Given the description of an element on the screen output the (x, y) to click on. 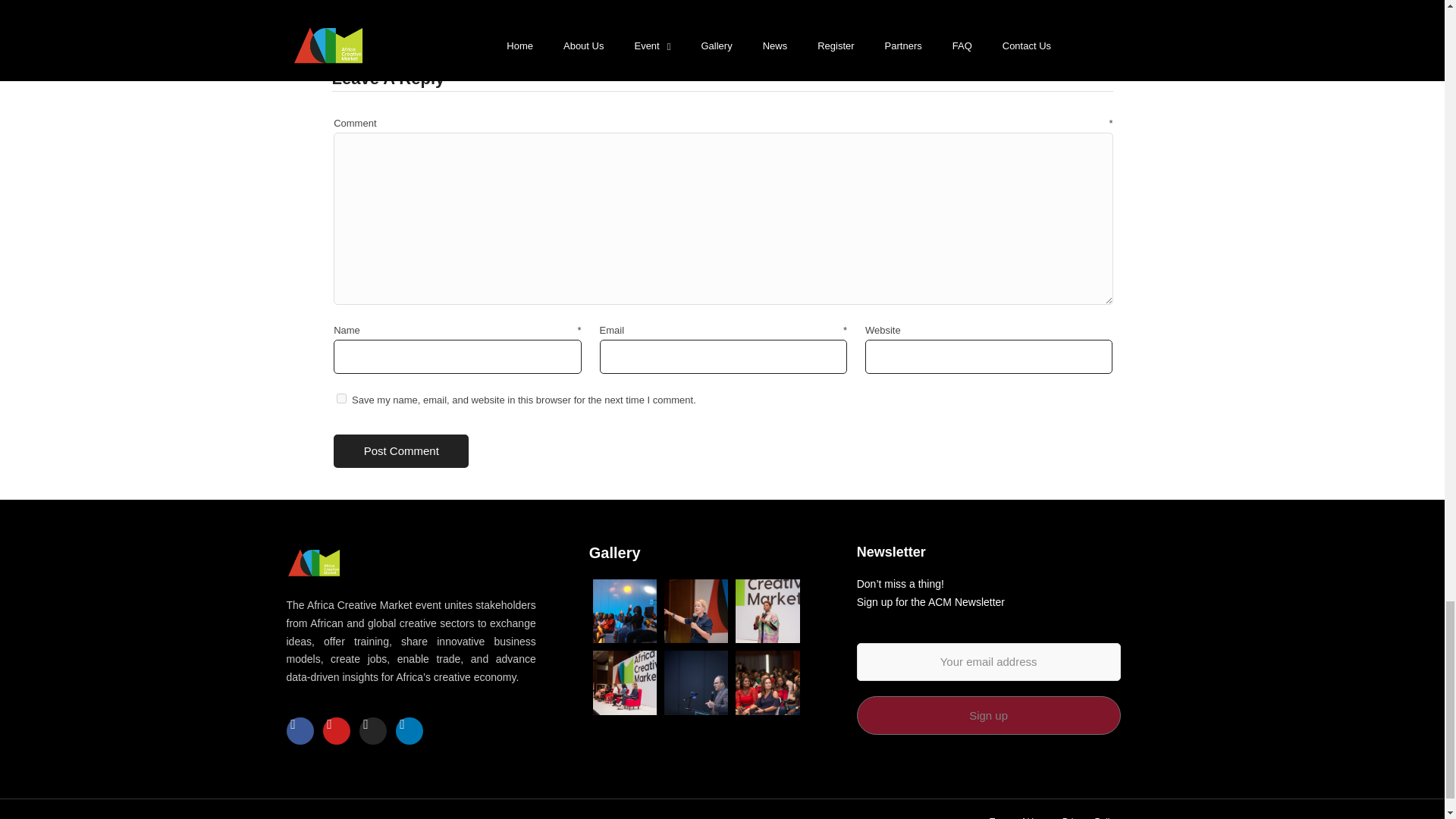
Post Comment (400, 451)
yes (341, 398)
